Given the description of an element on the screen output the (x, y) to click on. 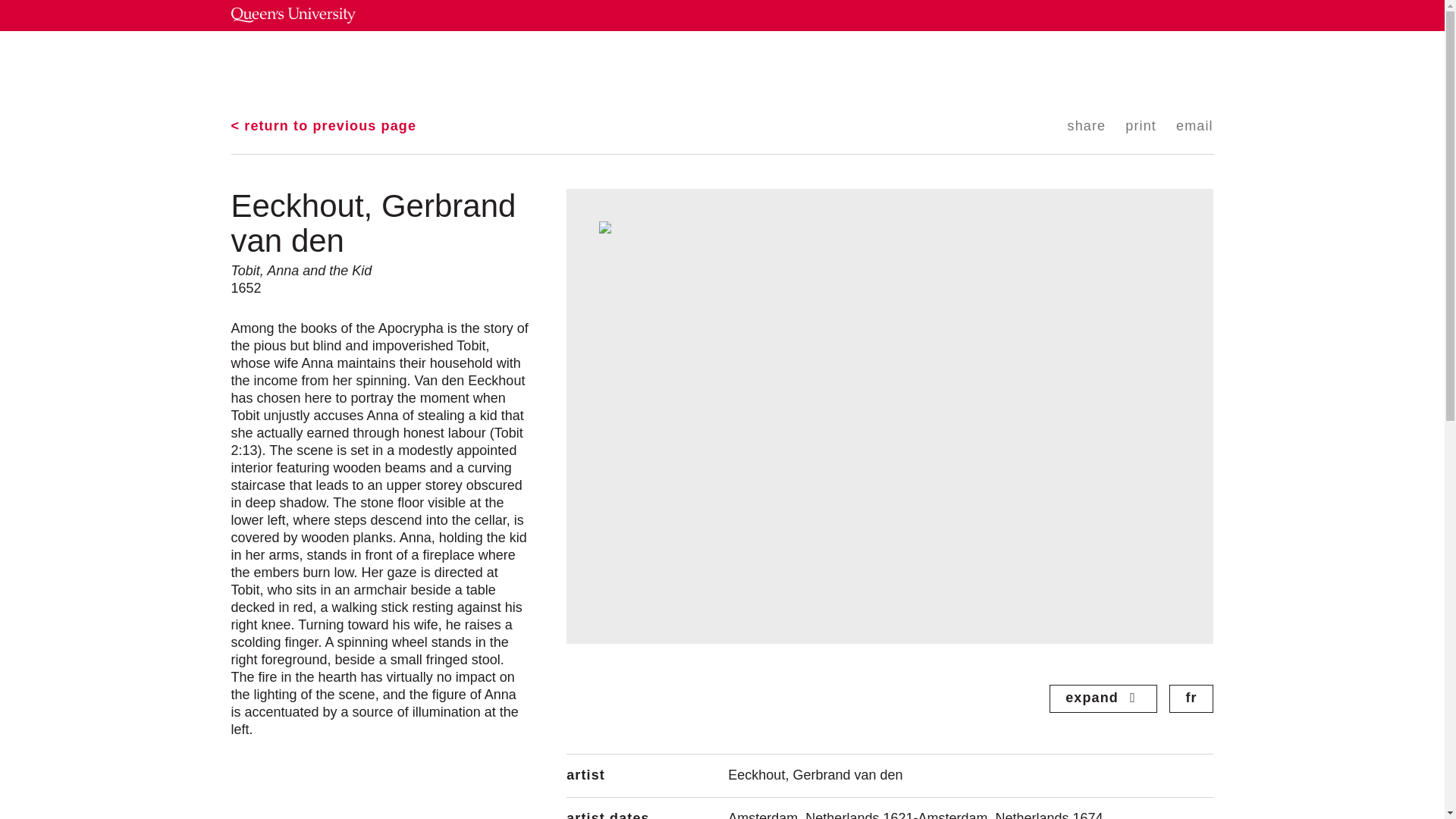
visit (595, 69)
participate (735, 69)
explore (656, 69)
